Given the description of an element on the screen output the (x, y) to click on. 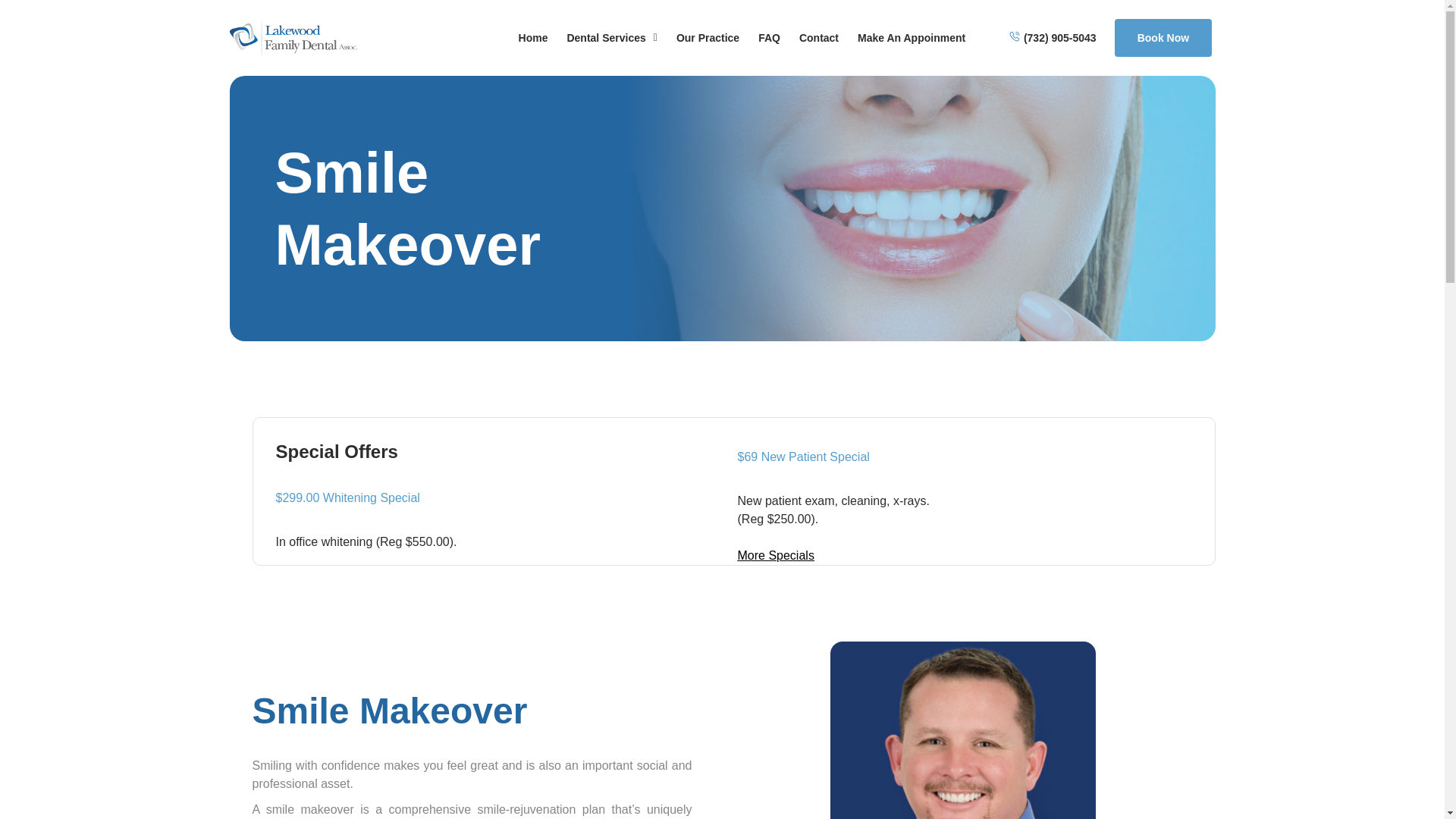
Our Practice (708, 38)
Make An Appoinment (911, 38)
Contact (818, 38)
Dental Services (611, 38)
Home (533, 38)
FAQ (769, 38)
